Given the description of an element on the screen output the (x, y) to click on. 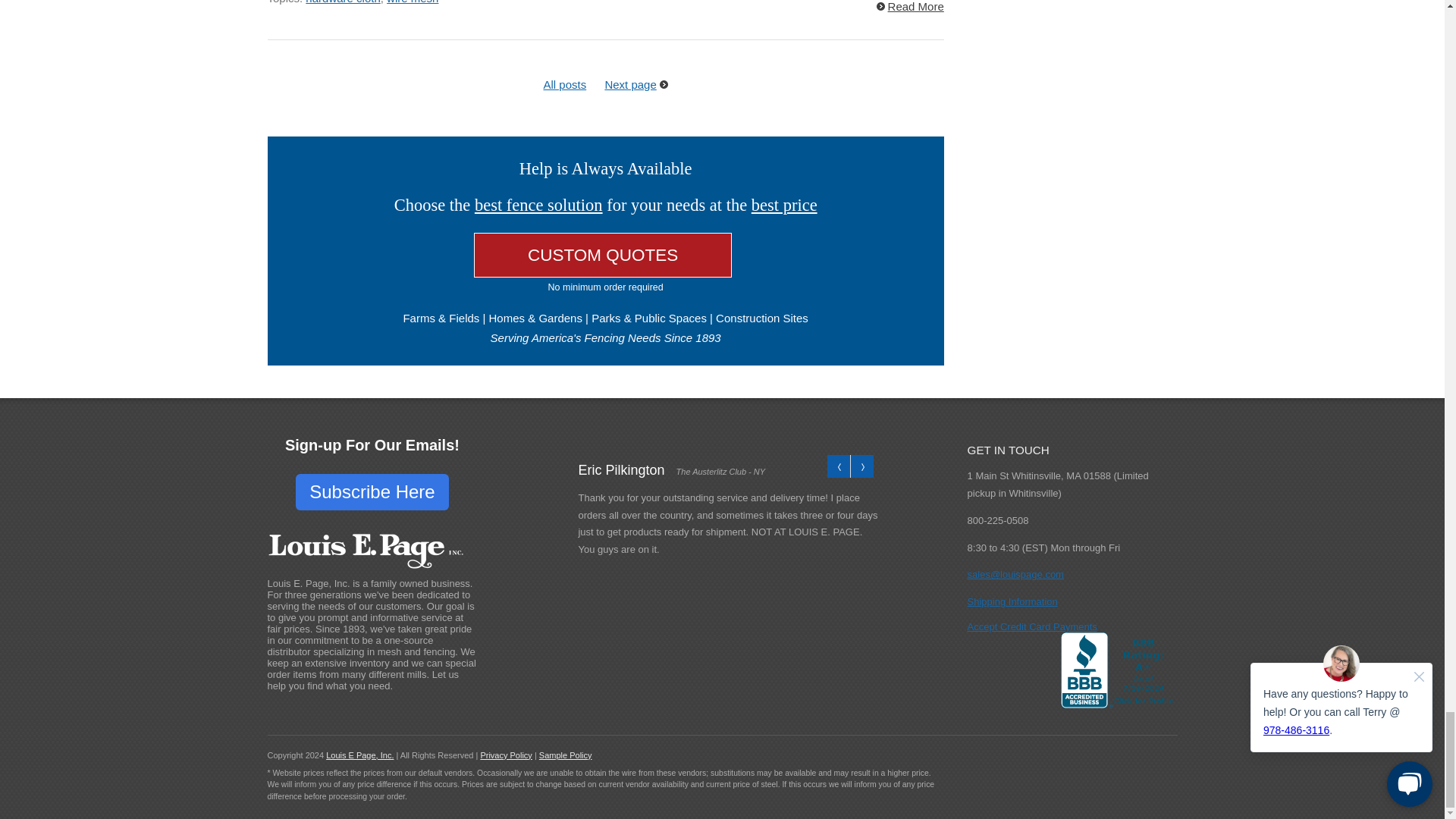
Subscribe Here (371, 492)
